Given the description of an element on the screen output the (x, y) to click on. 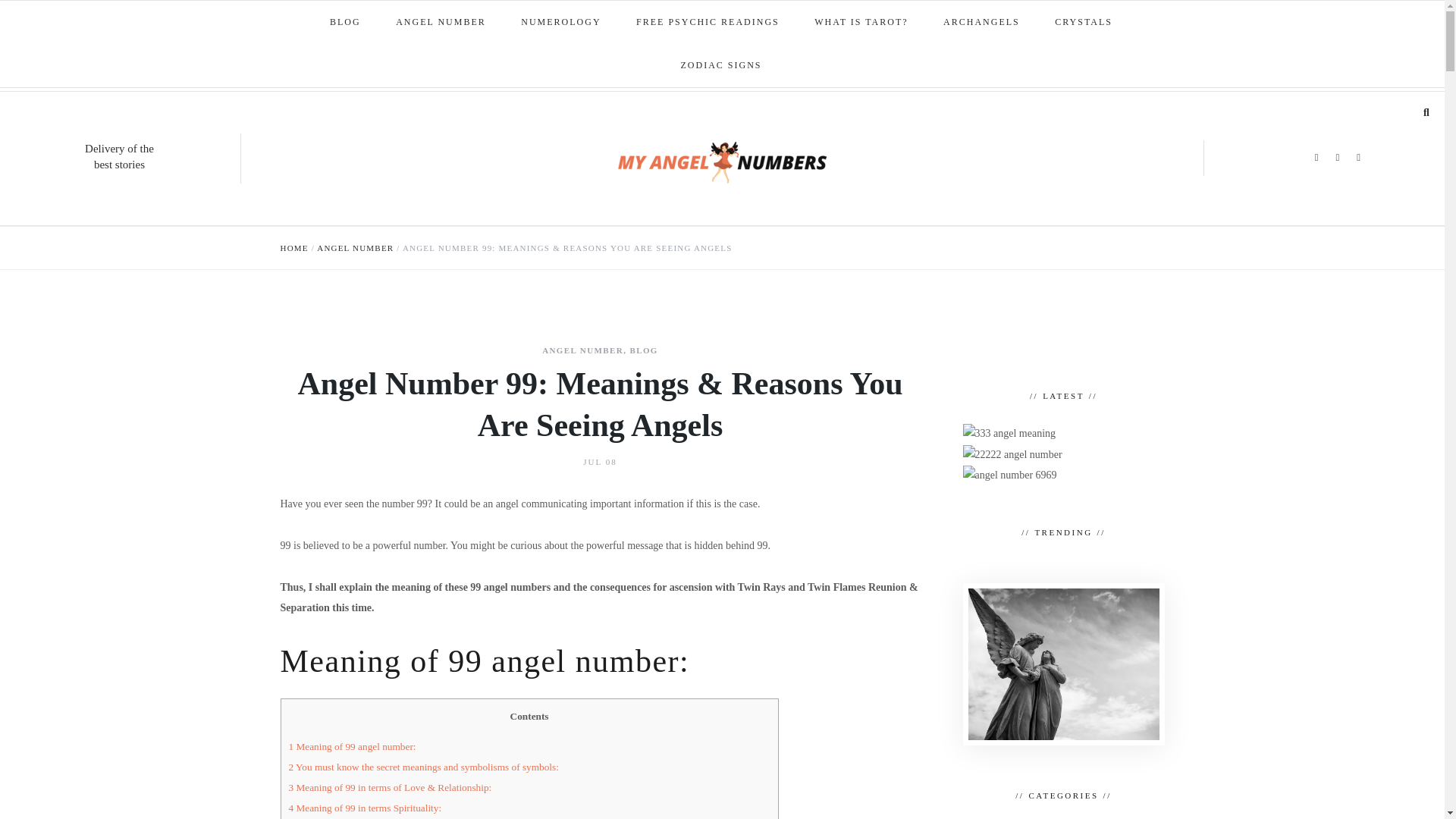
FREE PSYCHIC READINGS (708, 22)
WHAT IS TAROT? (861, 22)
ARCHANGELS (982, 22)
NUMEROLOGY (561, 22)
CRYSTALS (1084, 22)
BLOG (346, 22)
ANGEL NUMBER (441, 22)
